Given the description of an element on the screen output the (x, y) to click on. 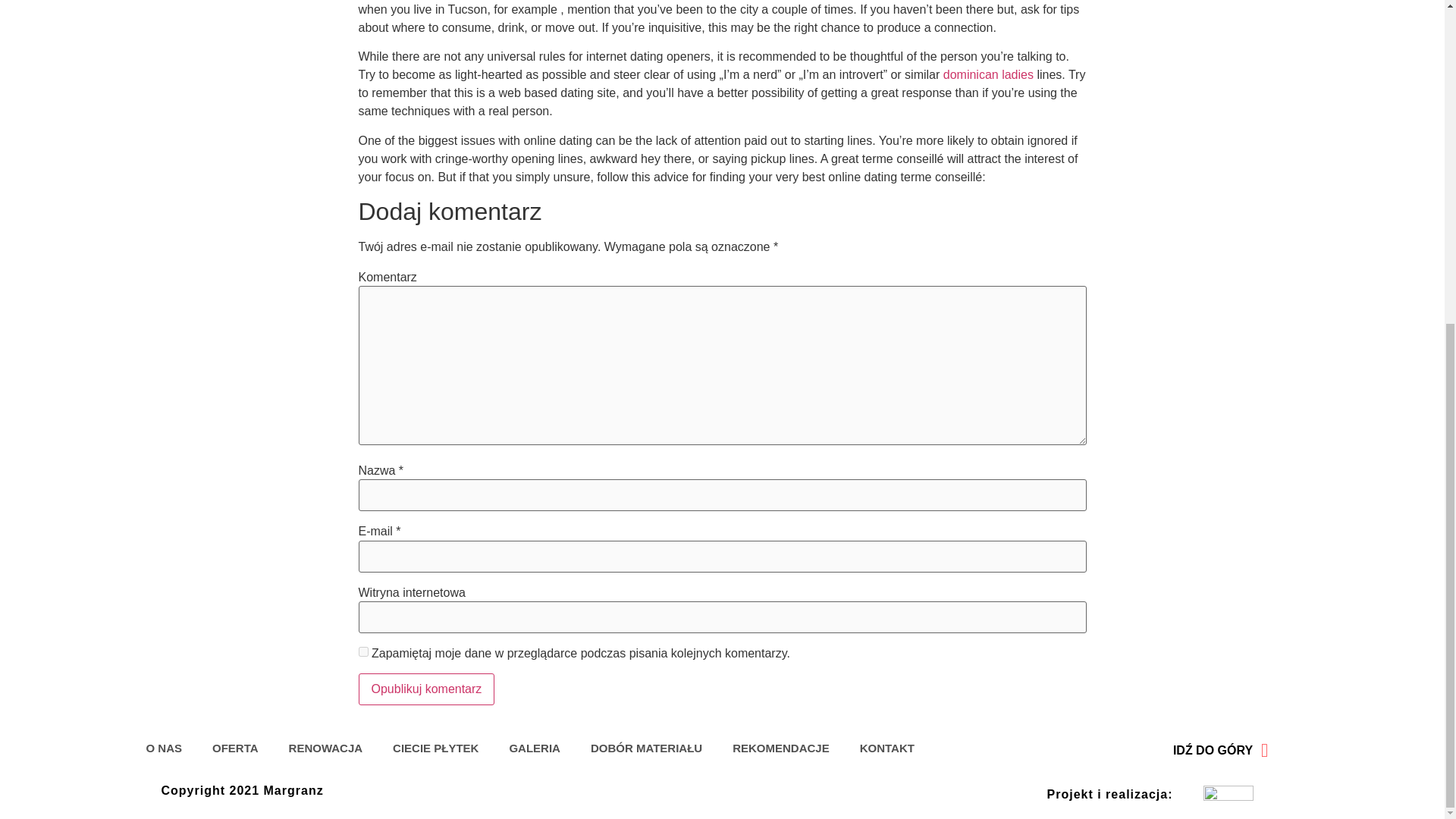
O NAS (163, 748)
RENOWACJA (325, 748)
Opublikuj komentarz (426, 689)
dominican ladies (988, 74)
REKOMENDACJE (780, 748)
yes (363, 651)
Opublikuj komentarz (426, 689)
OFERTA (234, 748)
GALERIA (534, 748)
